Given the description of an element on the screen output the (x, y) to click on. 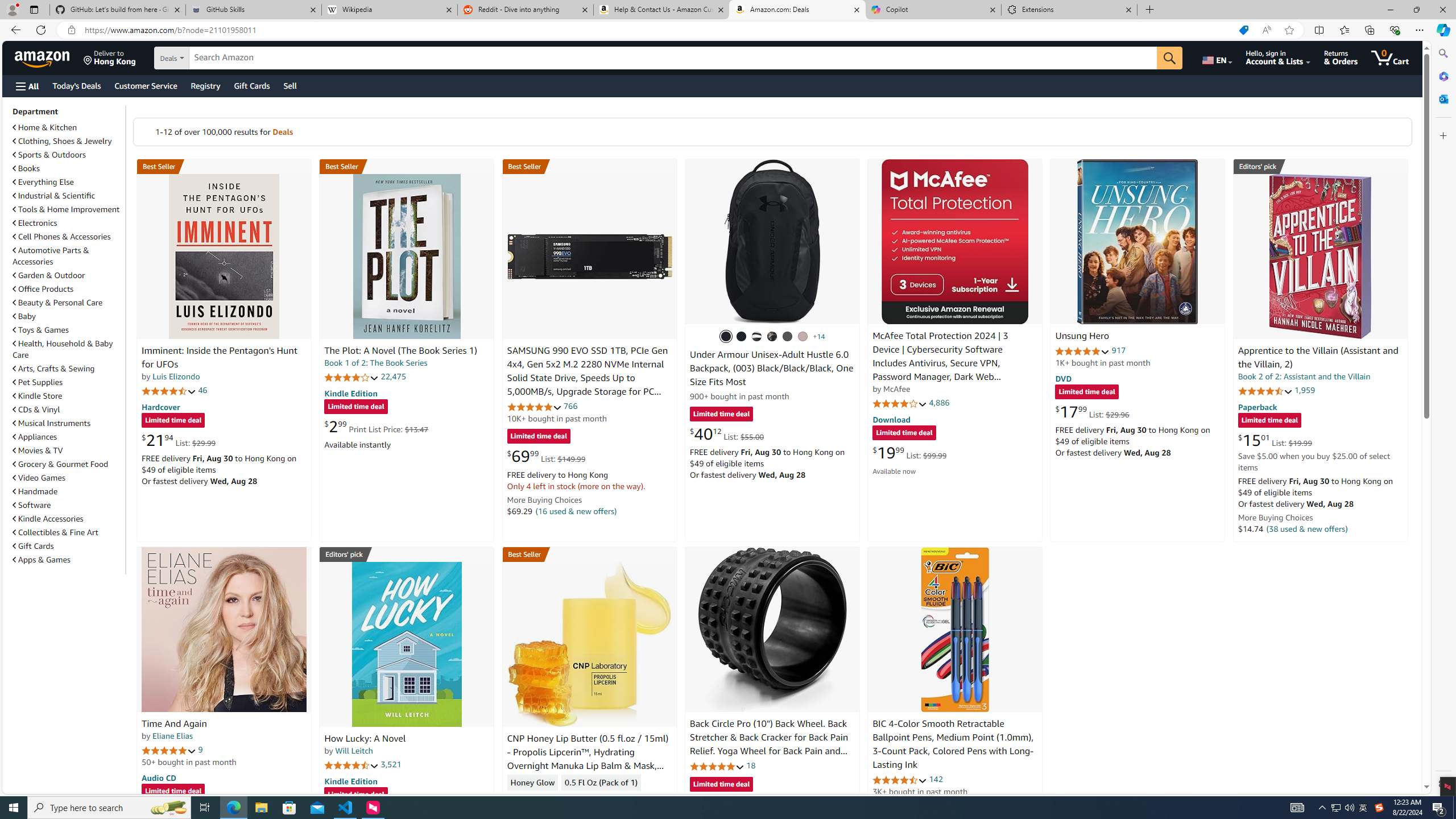
Electronics (67, 222)
$21.94 List: $29.99 (178, 439)
$2.99 Print List Price: $13.47 (376, 426)
+14 (818, 336)
Kindle Edition (350, 780)
(16 used & new offers) (576, 511)
Handmade (67, 491)
Deliver to Hong Kong (109, 57)
Time And Again (224, 628)
